Given the description of an element on the screen output the (x, y) to click on. 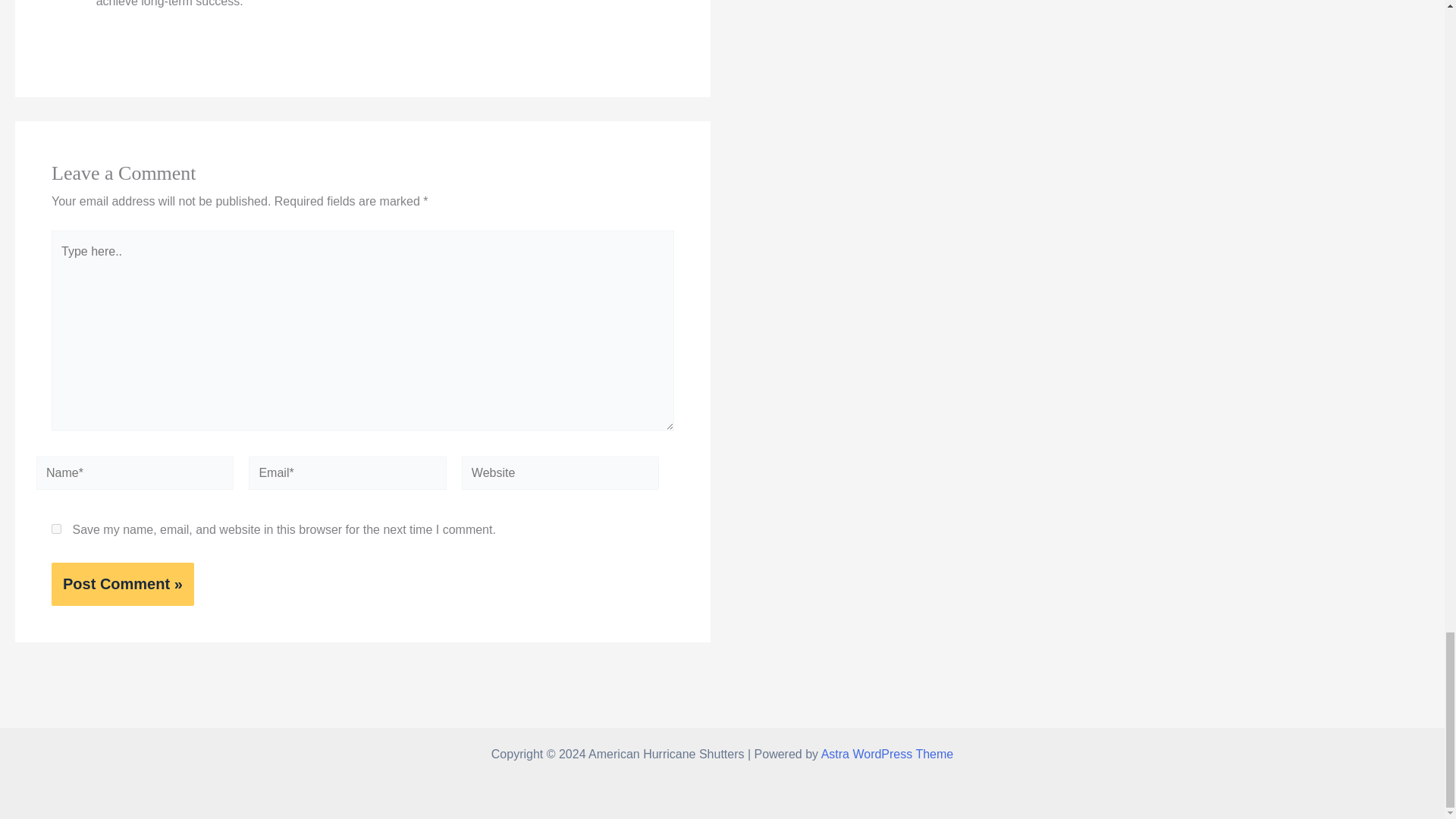
yes (55, 528)
